Given the description of an element on the screen output the (x, y) to click on. 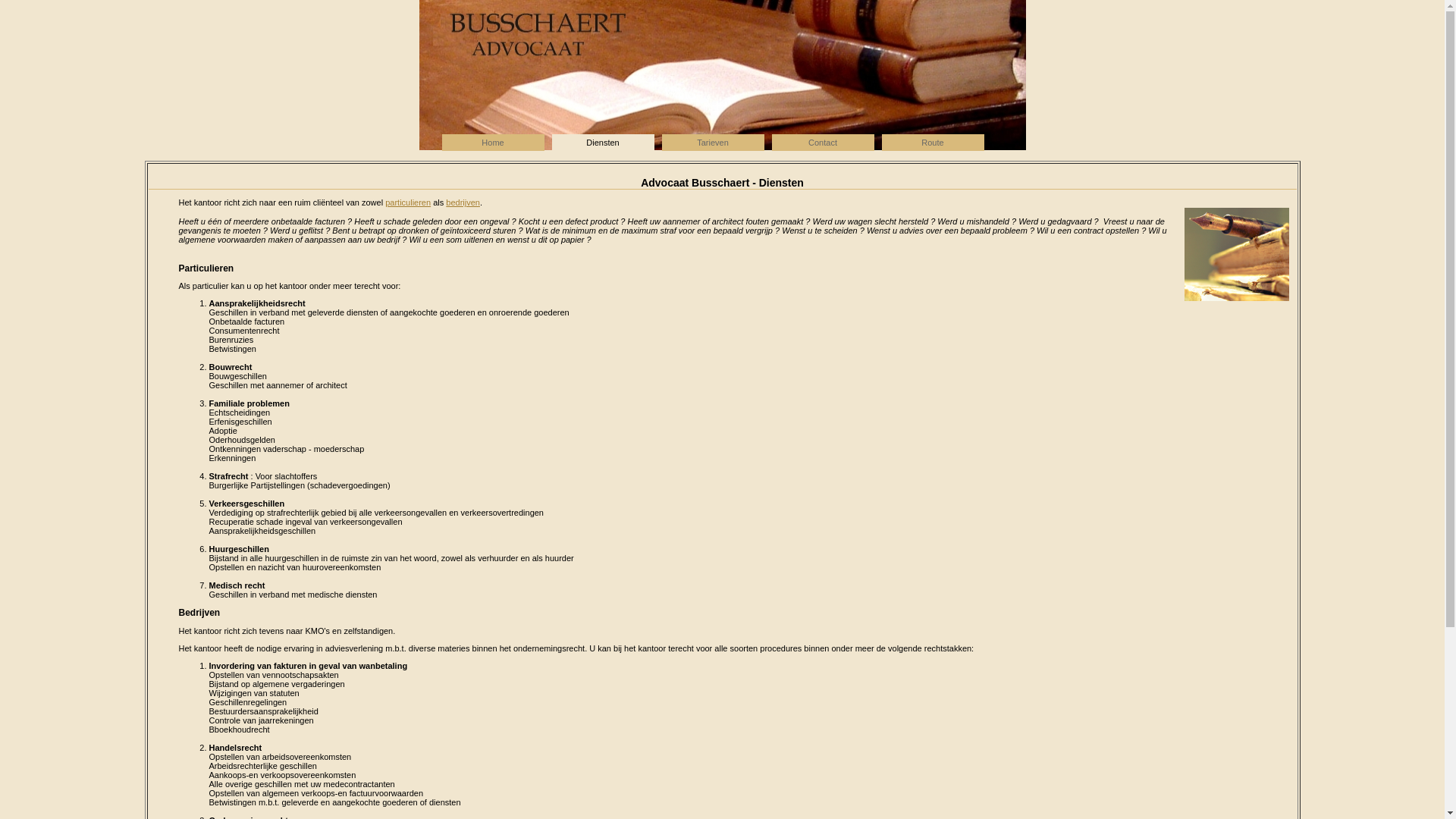
Contact Element type: text (822, 142)
Route Element type: text (932, 142)
bedrijven Element type: text (462, 202)
Particulieren Element type: text (206, 268)
Tarieven Element type: text (712, 142)
particulieren Element type: text (407, 202)
Home Element type: text (492, 142)
Diensten Element type: text (603, 142)
